Given the description of an element on the screen output the (x, y) to click on. 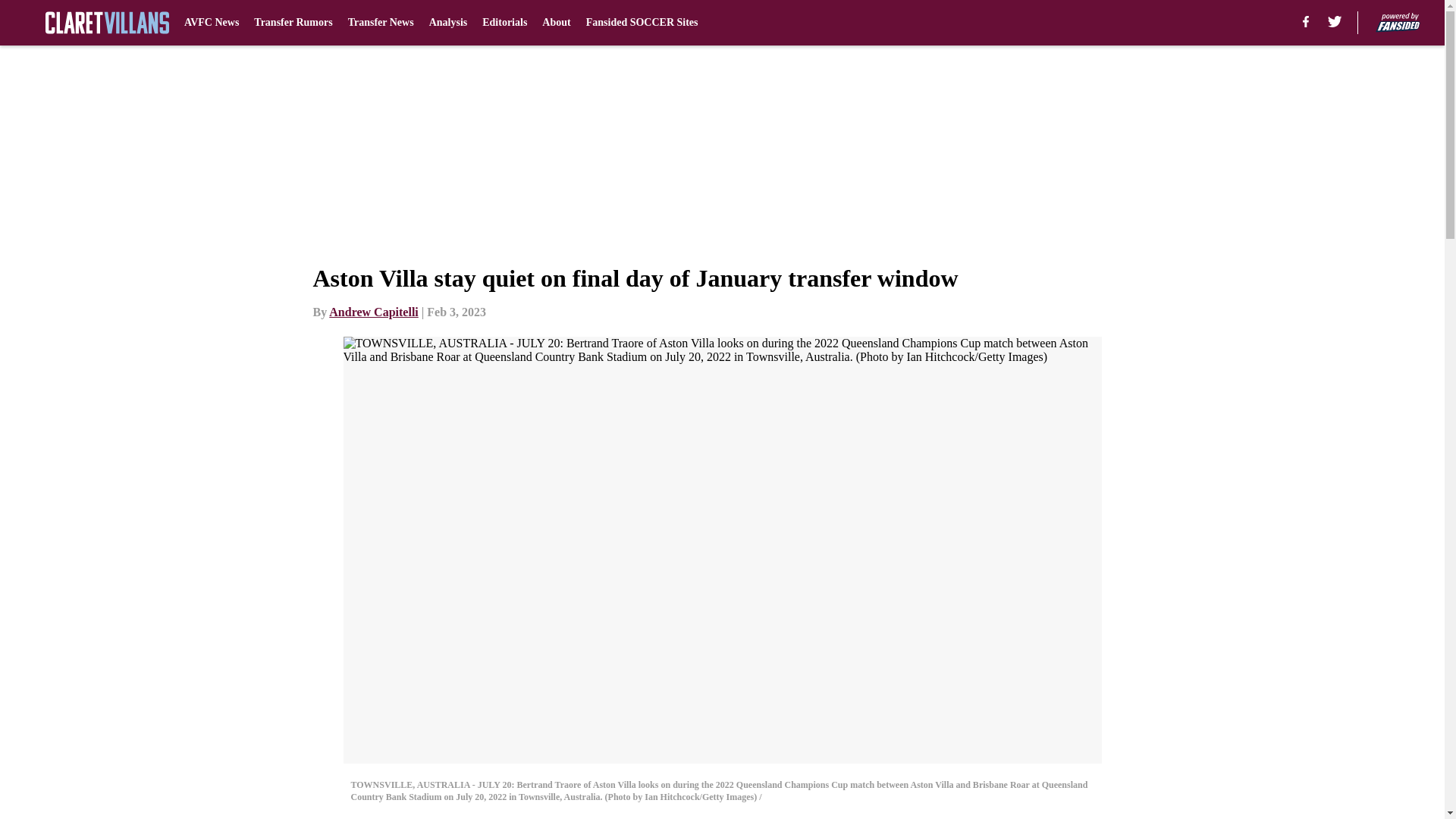
Transfer Rumors (292, 22)
About (555, 22)
AVFC News (211, 22)
Fansided SOCCER Sites (642, 22)
Editorials (504, 22)
Andrew Capitelli (373, 311)
Analysis (448, 22)
Transfer News (380, 22)
